Given the description of an element on the screen output the (x, y) to click on. 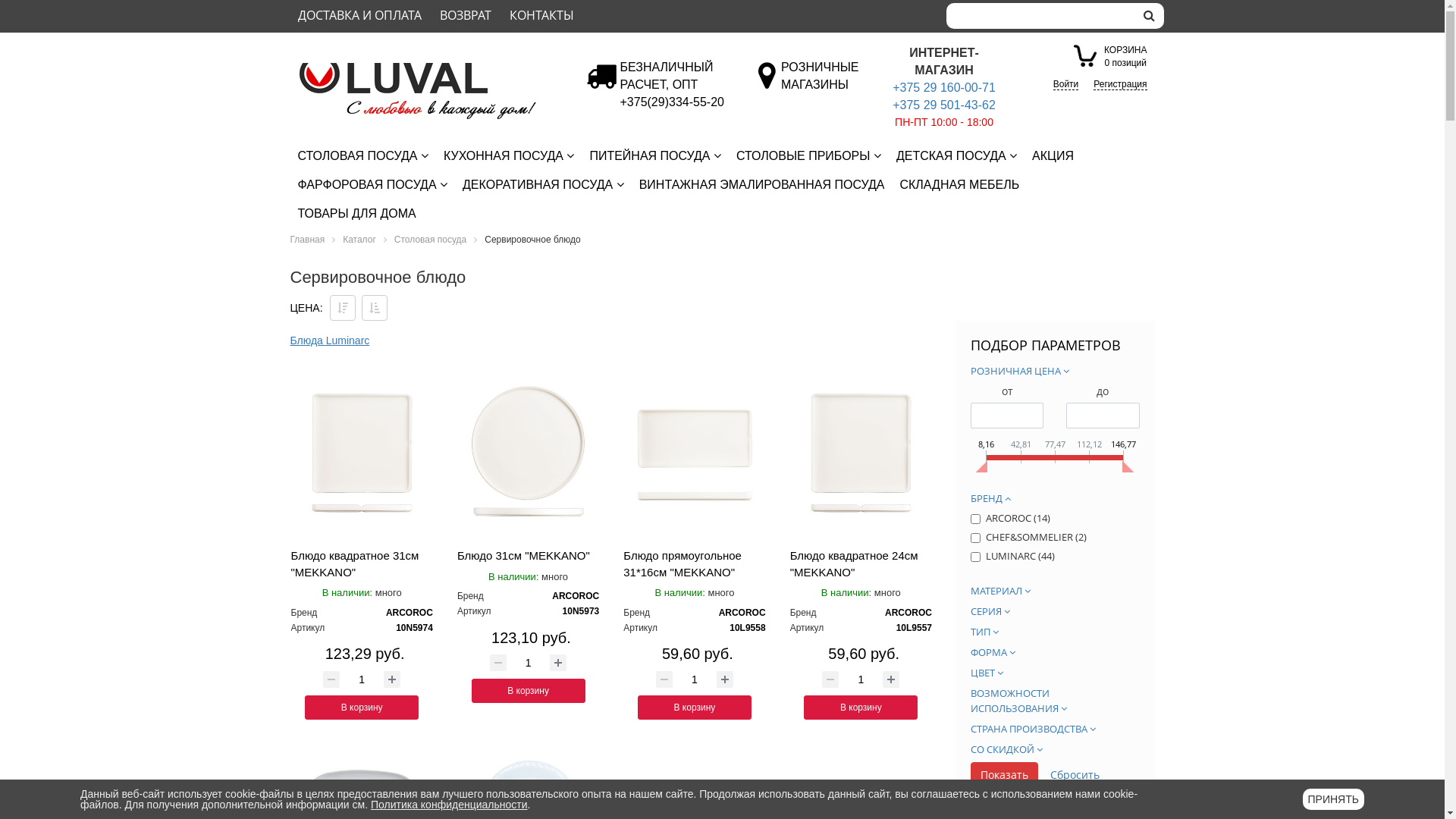
+375 29 160-00-71 Element type: text (943, 87)
Y Element type: text (975, 556)
Y Element type: text (975, 537)
+375 29 501-43-62 Element type: text (943, 104)
Y Element type: text (975, 519)
